Given the description of an element on the screen output the (x, y) to click on. 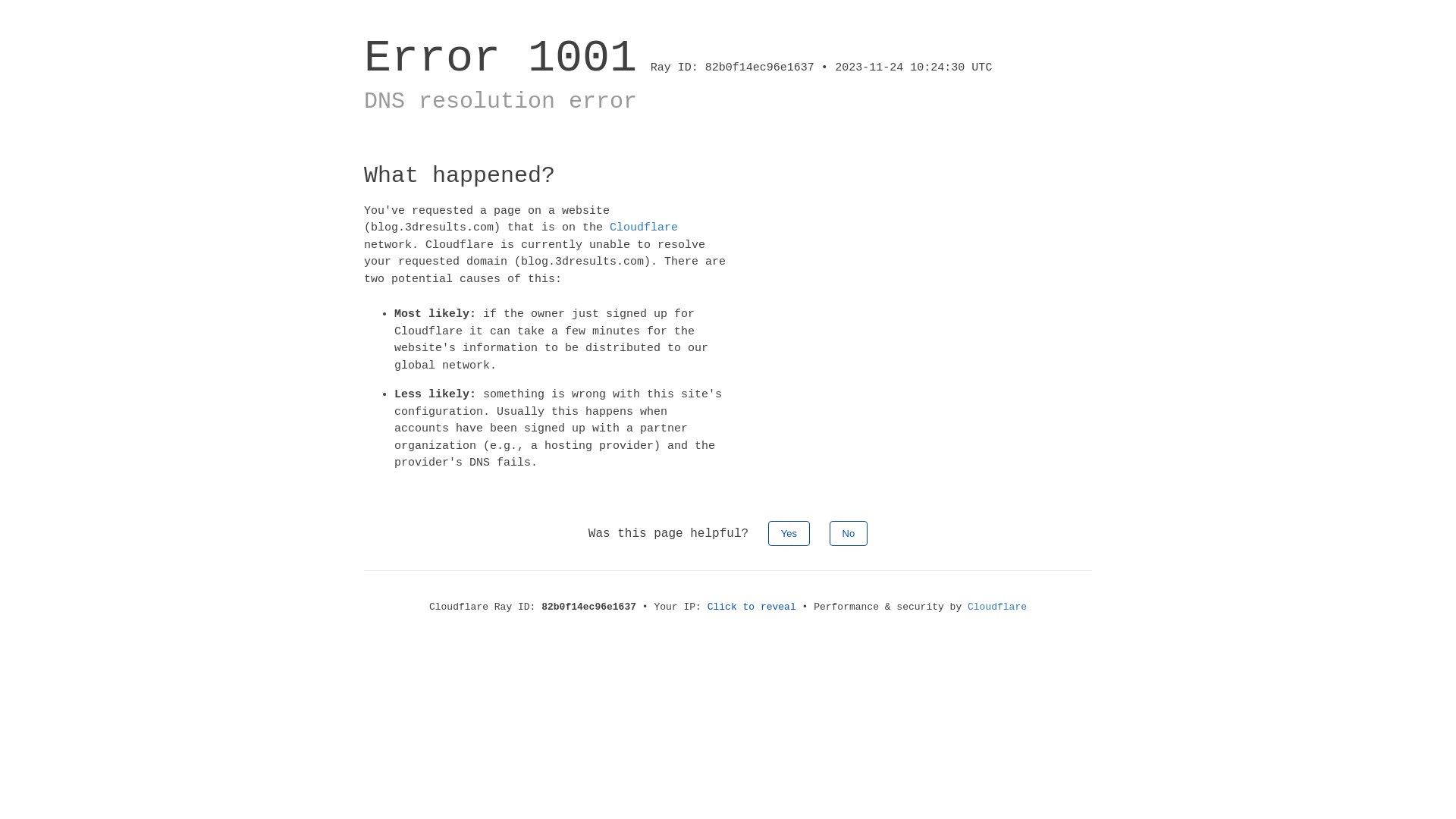
Click to reveal Element type: text (751, 605)
Yes Element type: text (788, 532)
No Element type: text (848, 532)
Cloudflare Element type: text (996, 605)
Cloudflare Element type: text (643, 227)
